Given the description of an element on the screen output the (x, y) to click on. 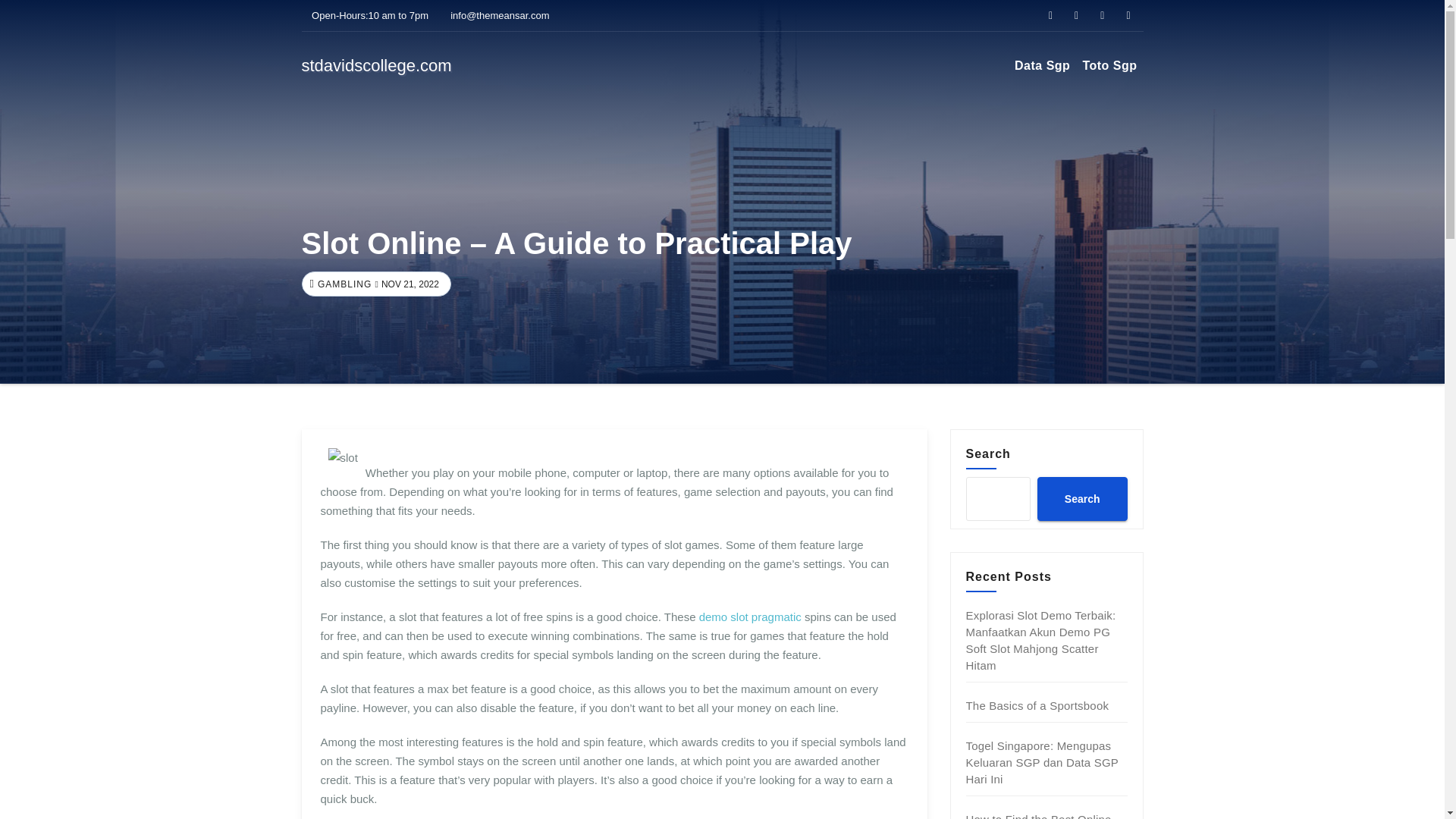
GAMBLING (342, 284)
Search (1081, 498)
How to Find the Best Online Casinos (1039, 816)
Toto Sgp (1108, 65)
Data Sgp (1042, 65)
Data Sgp (1042, 65)
Togel Singapore: Mengupas Keluaran SGP dan Data SGP Hari Ini (1042, 762)
stdavidscollege.com (376, 65)
Toto Sgp (1108, 65)
The Basics of a Sportsbook (1037, 705)
Open-Hours:10 am to 7pm (365, 15)
demo slot pragmatic (750, 616)
